Given the description of an element on the screen output the (x, y) to click on. 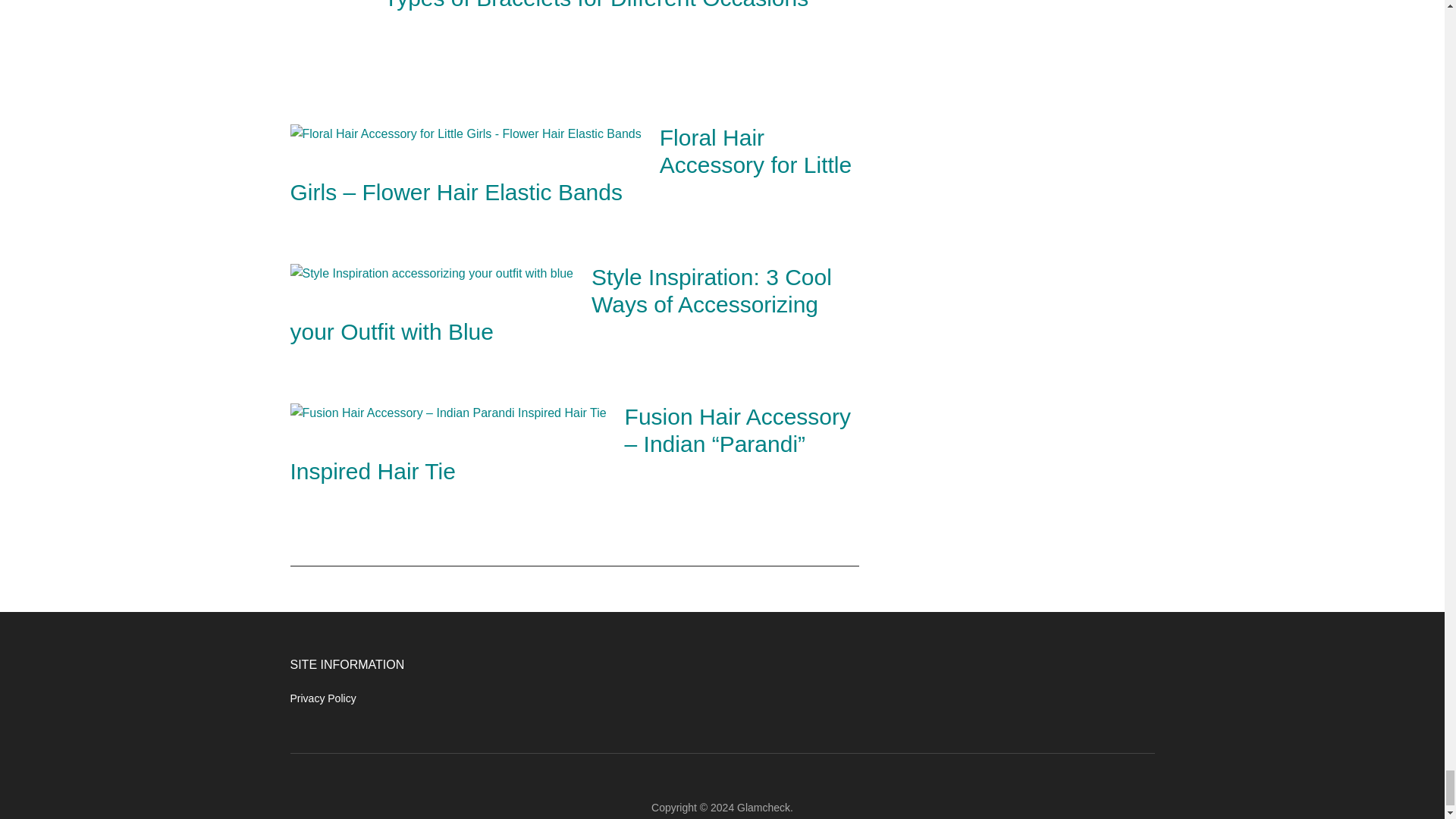
Types of Bracelets for Different Occasions (596, 5)
Types of Bracelets for Different Occasions (327, 30)
Types of Bracelets for Different Occasions (596, 5)
